Given the description of an element on the screen output the (x, y) to click on. 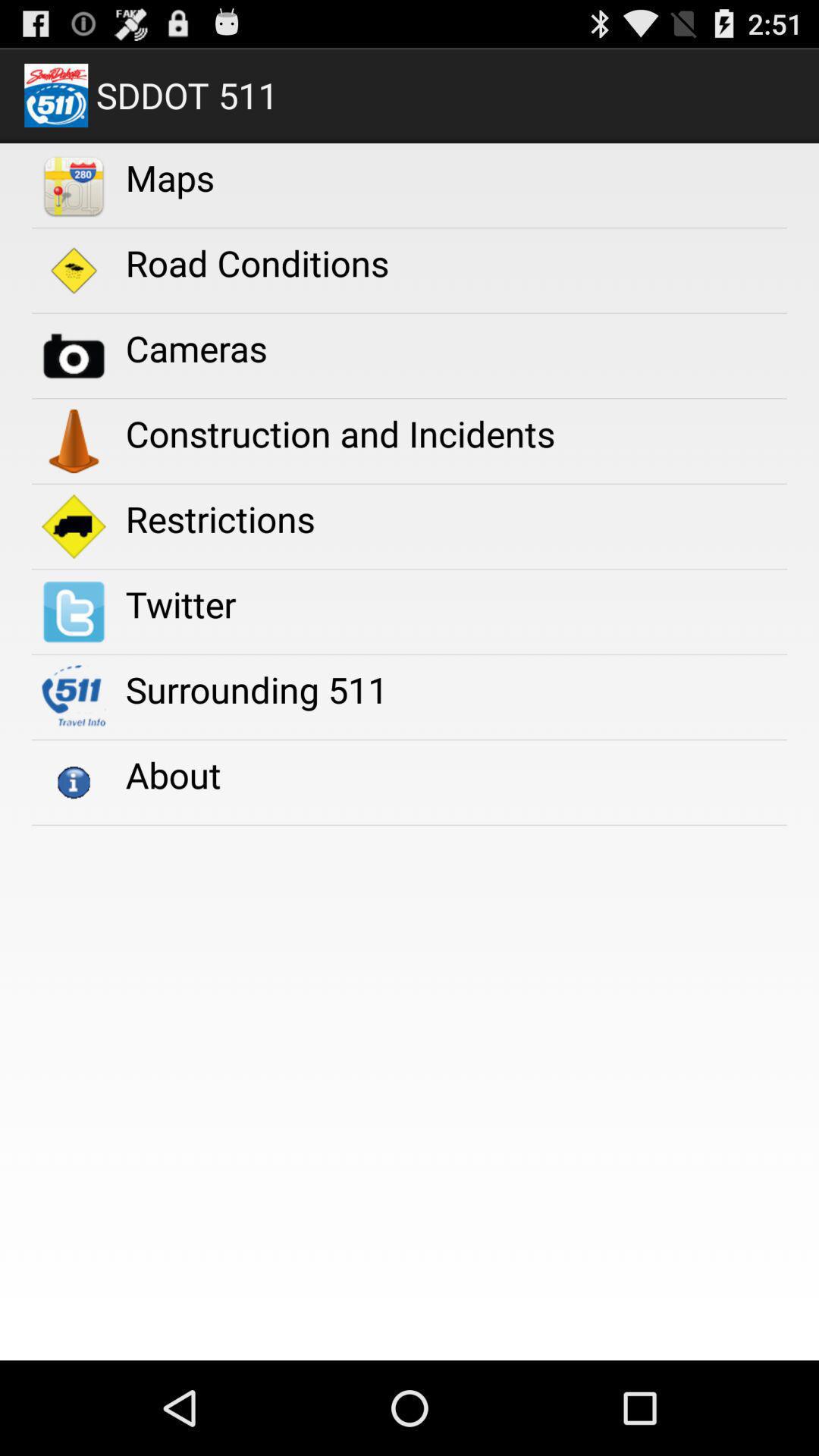
scroll to the restrictions item (220, 518)
